Given the description of an element on the screen output the (x, y) to click on. 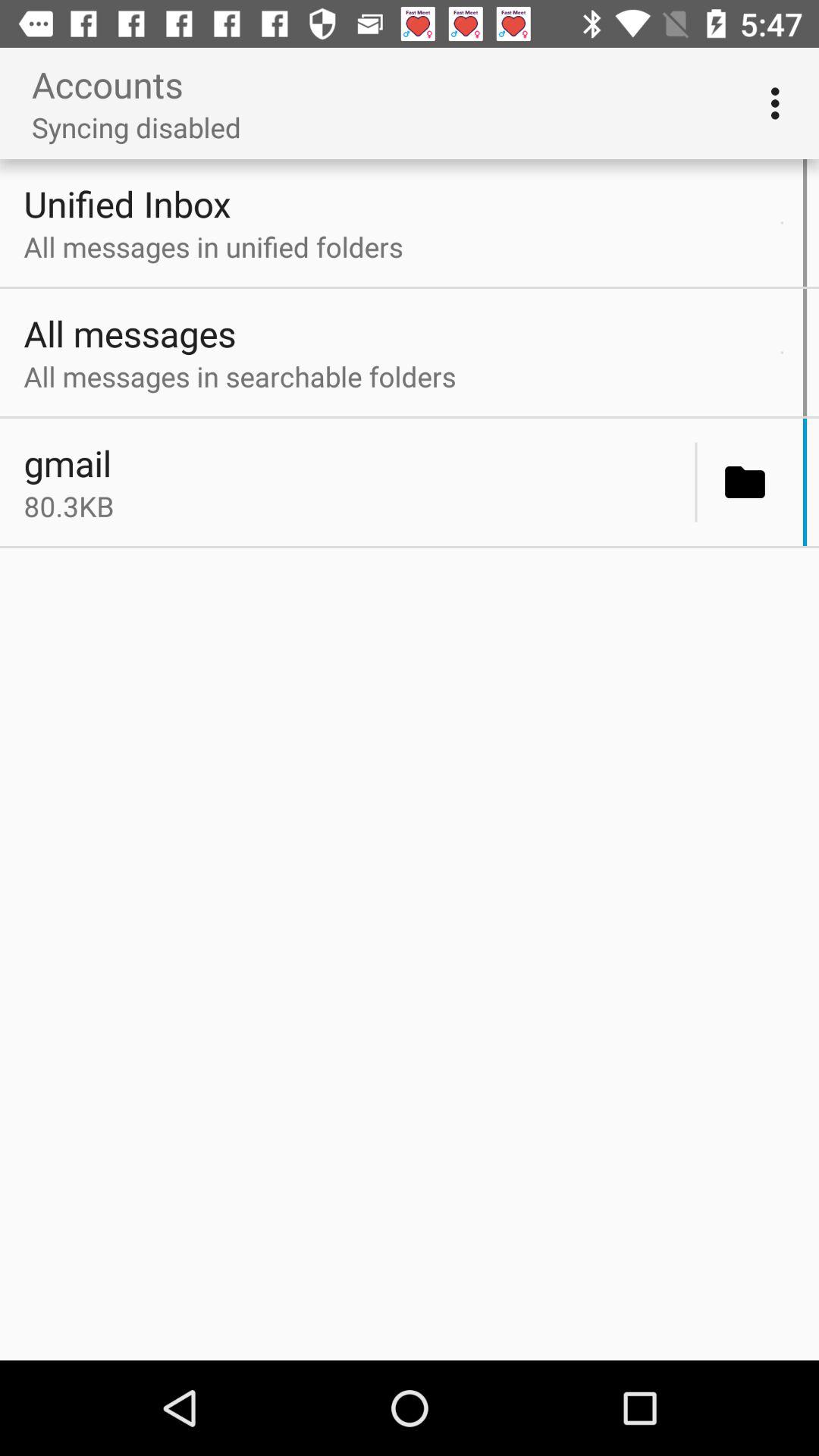
press the item next to unified inbox item (781, 222)
